Given the description of an element on the screen output the (x, y) to click on. 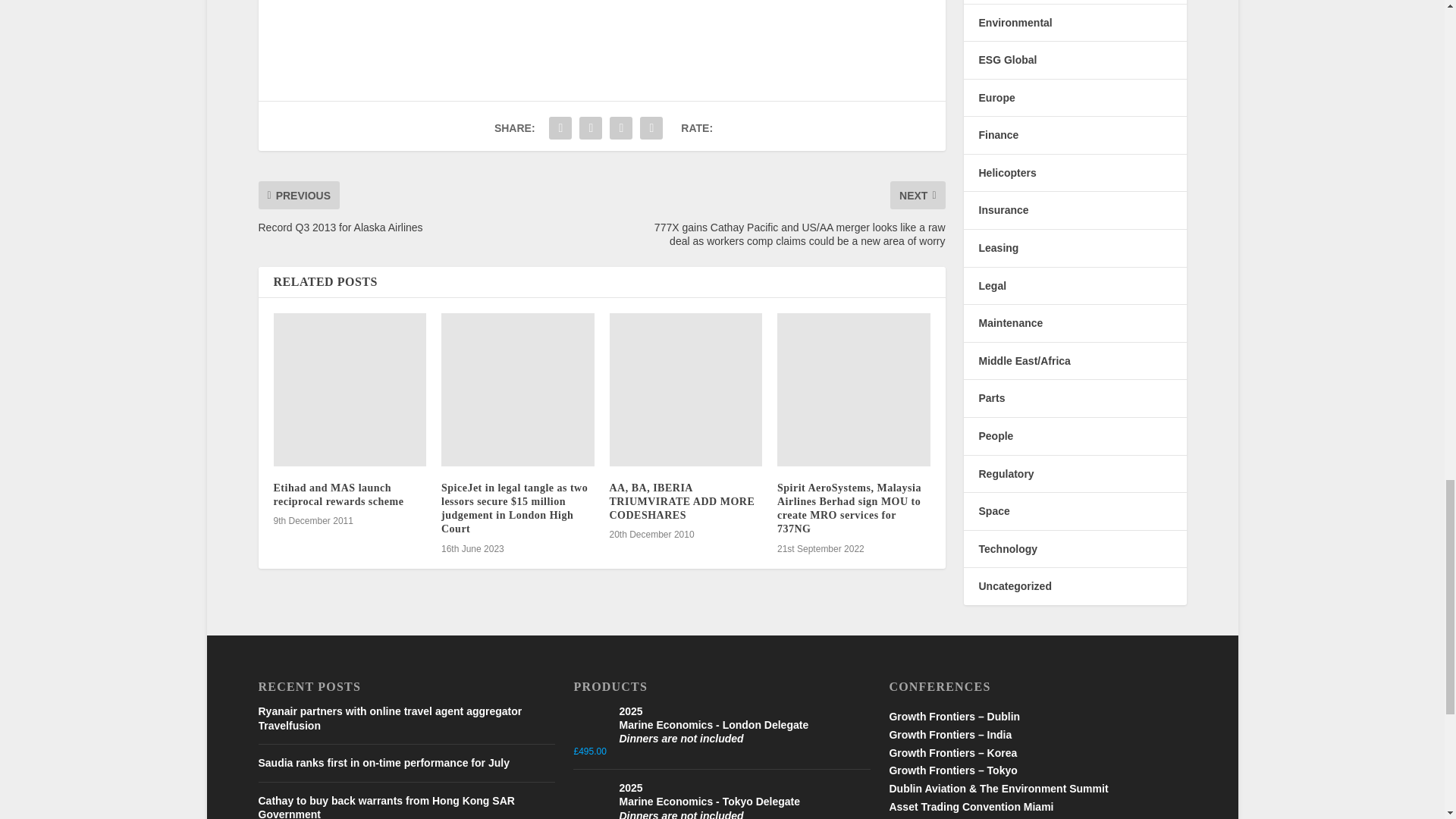
AA, BA, IBERIA TRIUMVIRATE ADD MORE CODESHARES (686, 389)
Etihad and MAS launch reciprocal rewards scheme (349, 389)
